Given the description of an element on the screen output the (x, y) to click on. 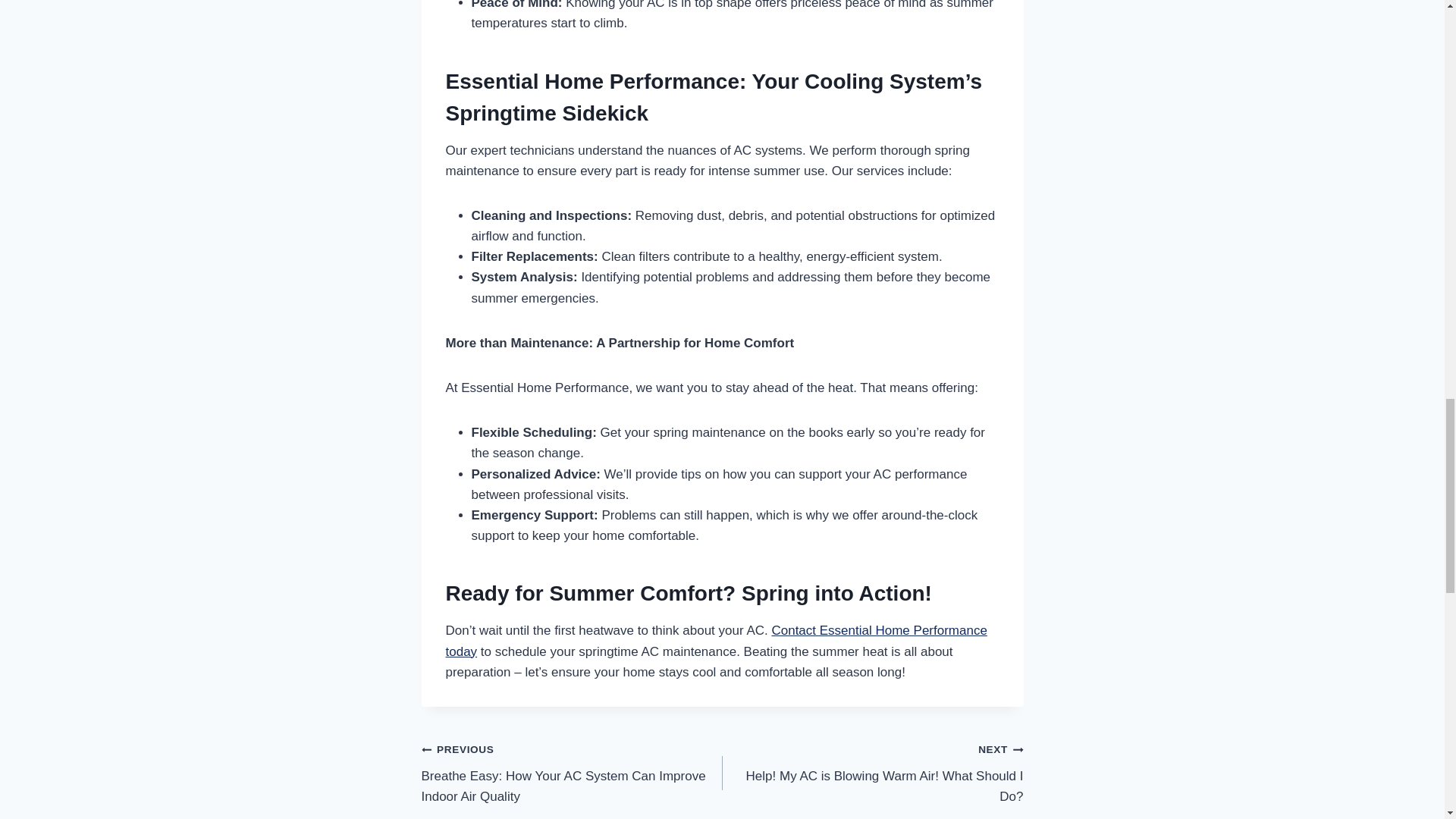
Contact Essential Home Performance today (716, 640)
